Given the description of an element on the screen output the (x, y) to click on. 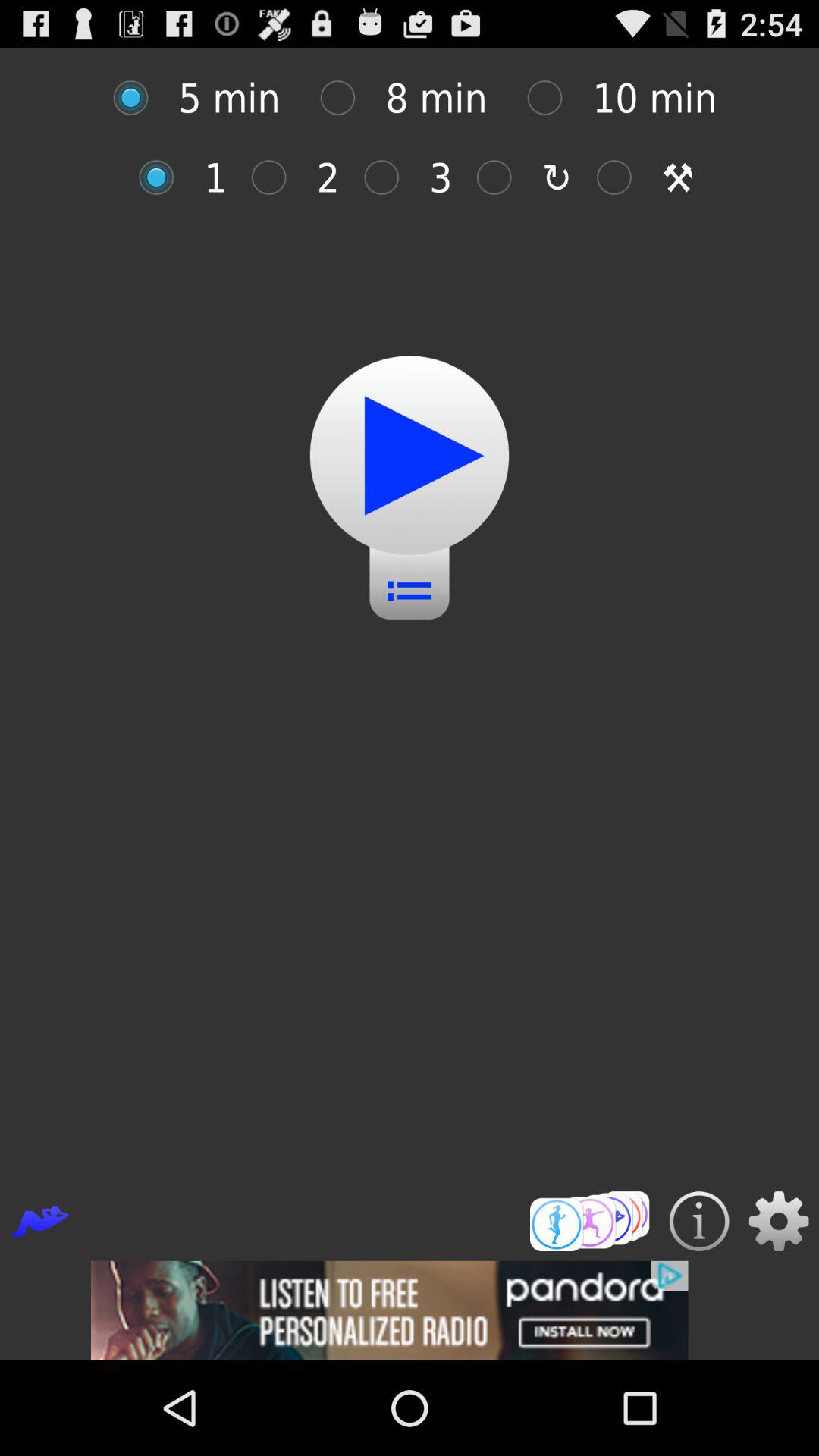
select the timer (502, 177)
